Given the description of an element on the screen output the (x, y) to click on. 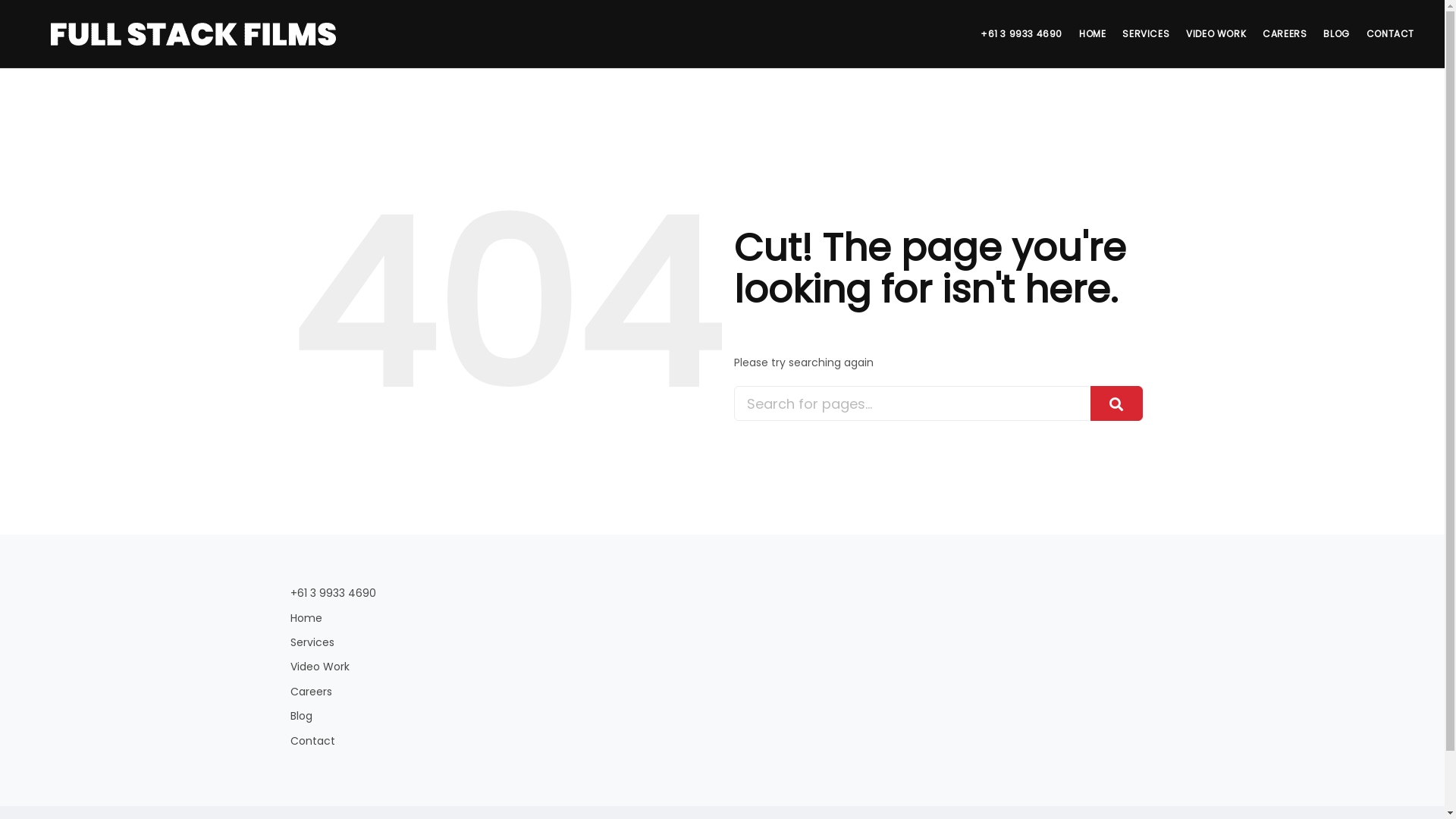
+61 3 9933 4690 Element type: text (1021, 34)
Blog Element type: text (721, 715)
VIDEO WORK Element type: text (1215, 34)
Contact Element type: text (721, 740)
Services Element type: text (721, 642)
CAREERS Element type: text (1284, 34)
HOME Element type: text (1092, 34)
+61 3 9933 4690 Element type: text (721, 592)
Video Work Element type: text (721, 666)
Full Stack Films Element type: hover (193, 34)
Home Element type: text (721, 617)
CONTACT Element type: text (1389, 34)
Careers Element type: text (721, 691)
SERVICES Element type: text (1145, 34)
BLOG Element type: text (1335, 34)
